Given the description of an element on the screen output the (x, y) to click on. 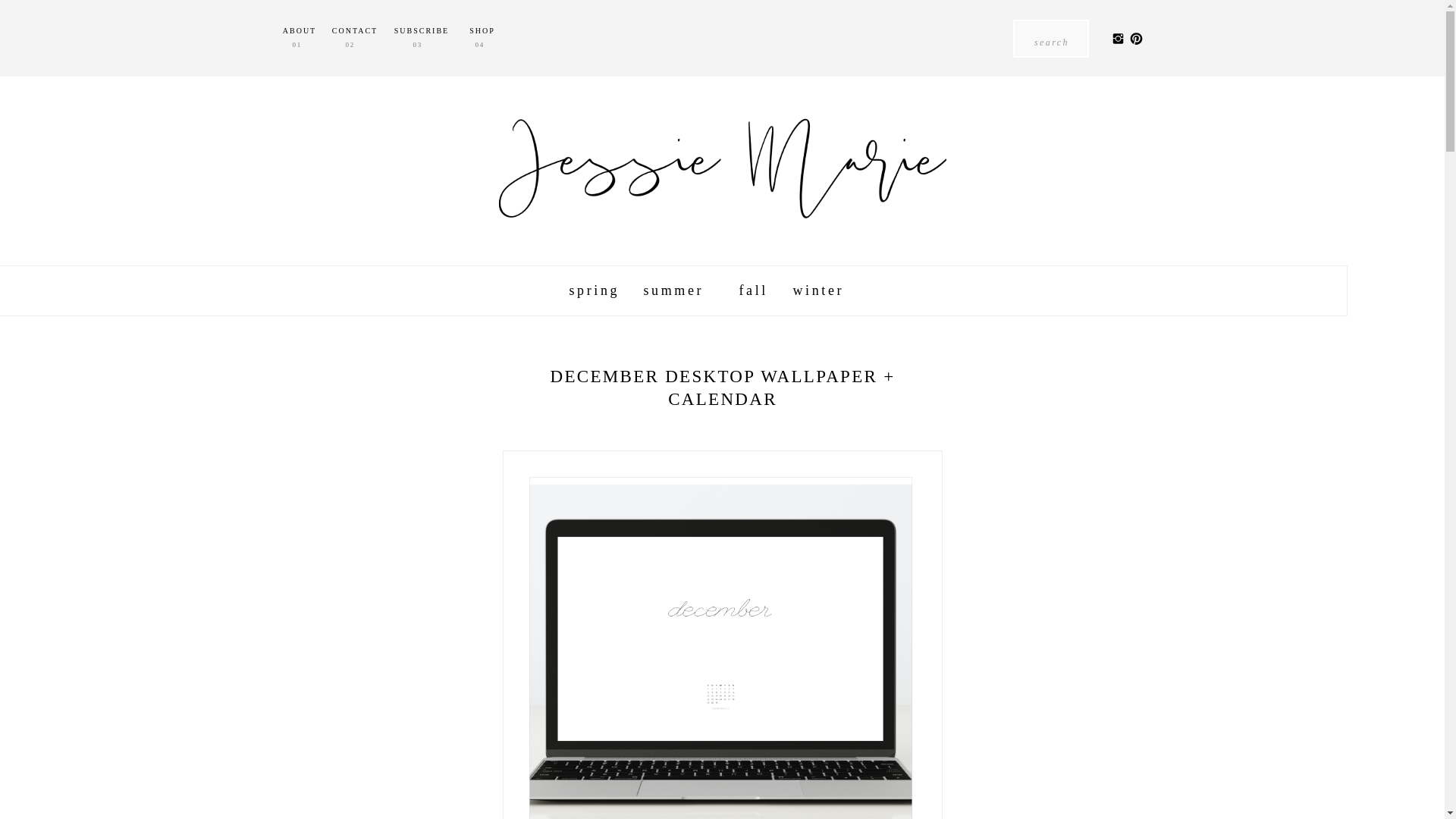
02 (352, 48)
01 (299, 48)
CONTACT (355, 40)
ABOUT (299, 40)
summer (678, 295)
SUBSCRIBE (420, 40)
SHOP (482, 40)
winter (820, 295)
03 (419, 48)
fall (754, 295)
